Given the description of an element on the screen output the (x, y) to click on. 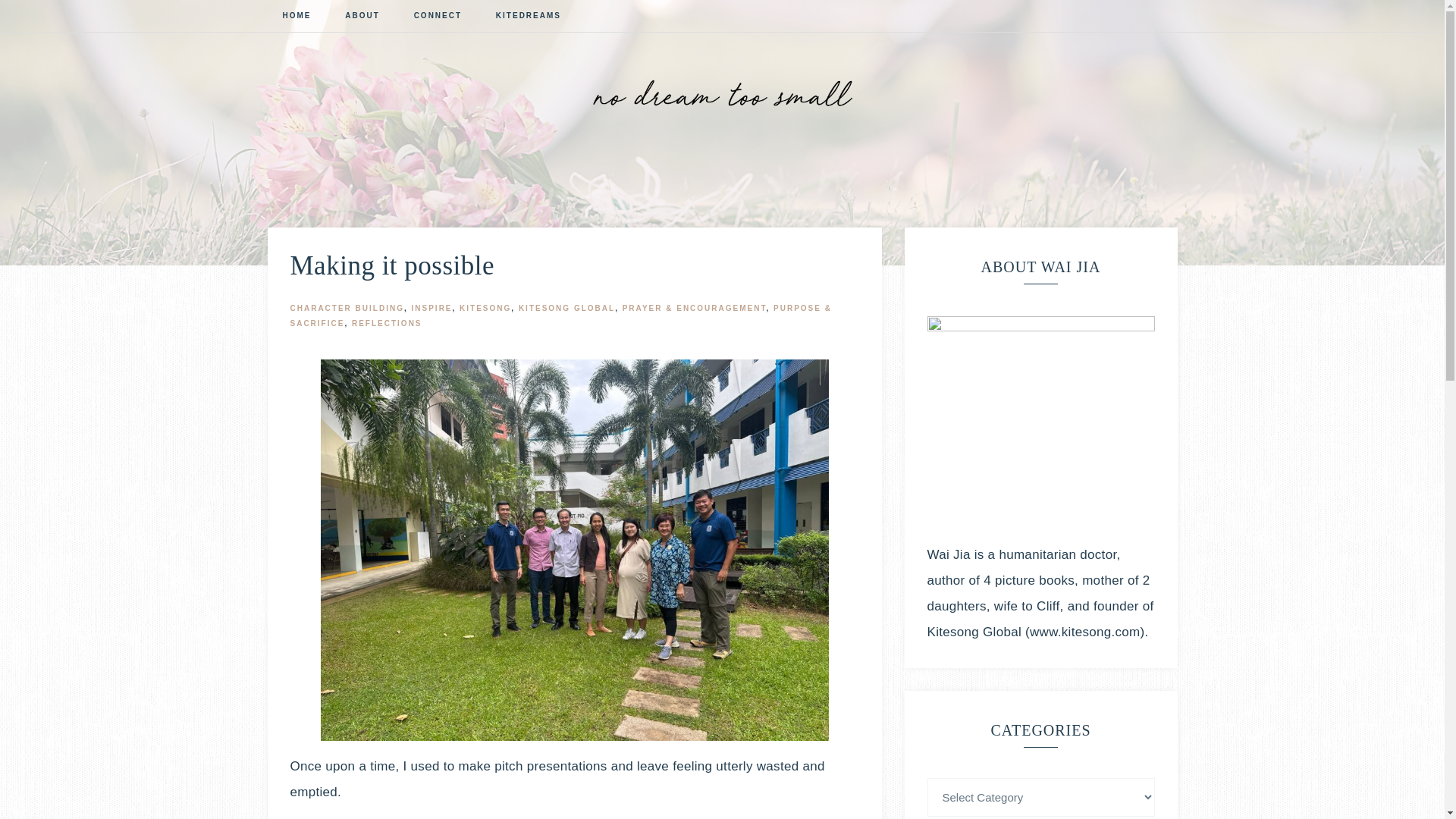
KITESONG GLOBAL (566, 307)
CONNECT (437, 17)
HOME (296, 17)
ABOUT (362, 17)
REFLECTIONS (387, 323)
INSPIRE (432, 307)
KITEDREAMS (528, 17)
KITESONG (485, 307)
CHARACTER BUILDING (346, 307)
